Given the description of an element on the screen output the (x, y) to click on. 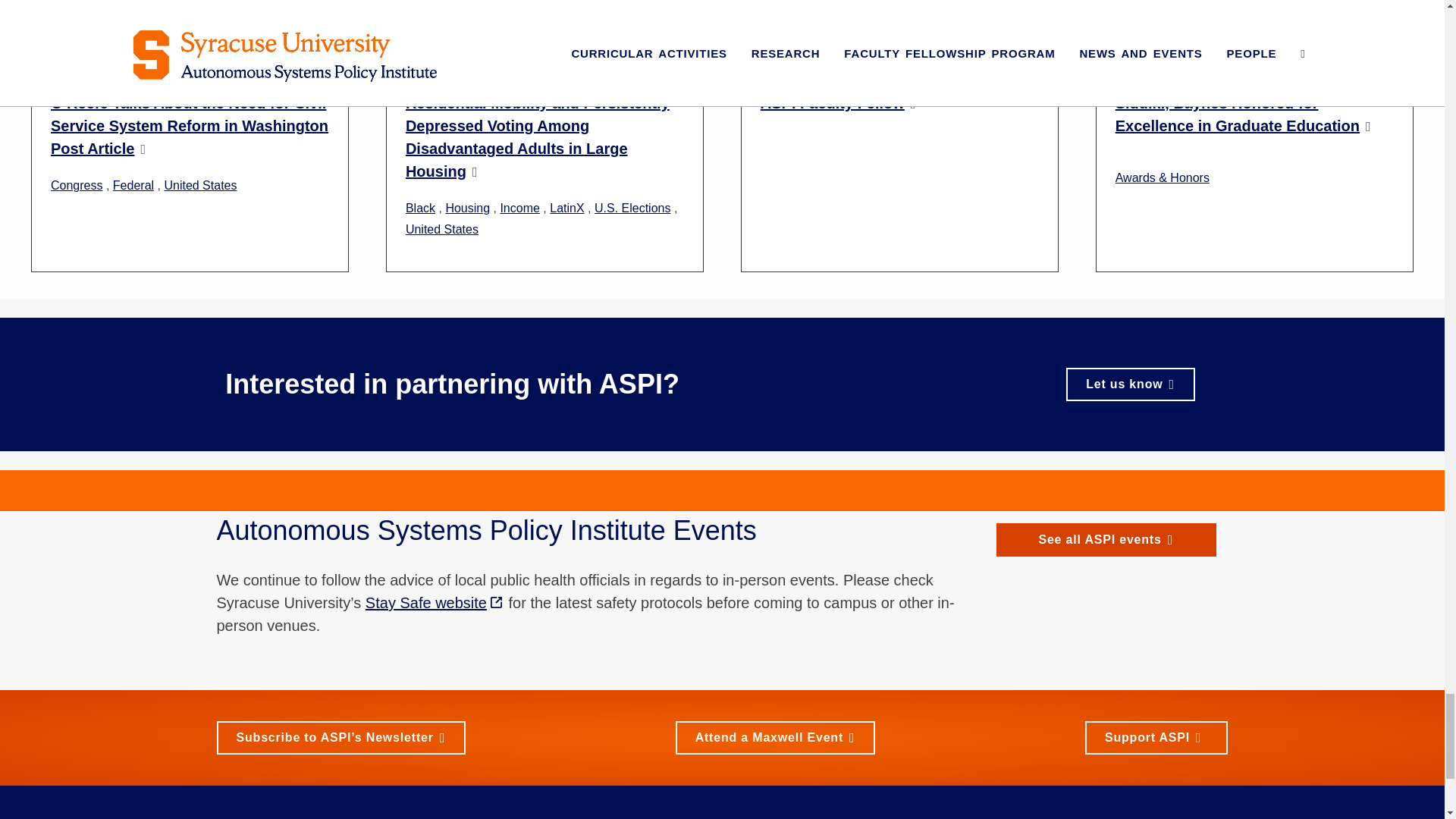
Congress (75, 185)
LatinX (566, 207)
United States (199, 185)
Income (518, 207)
Housing (467, 207)
Black (420, 207)
Federal (133, 185)
